Given the description of an element on the screen output the (x, y) to click on. 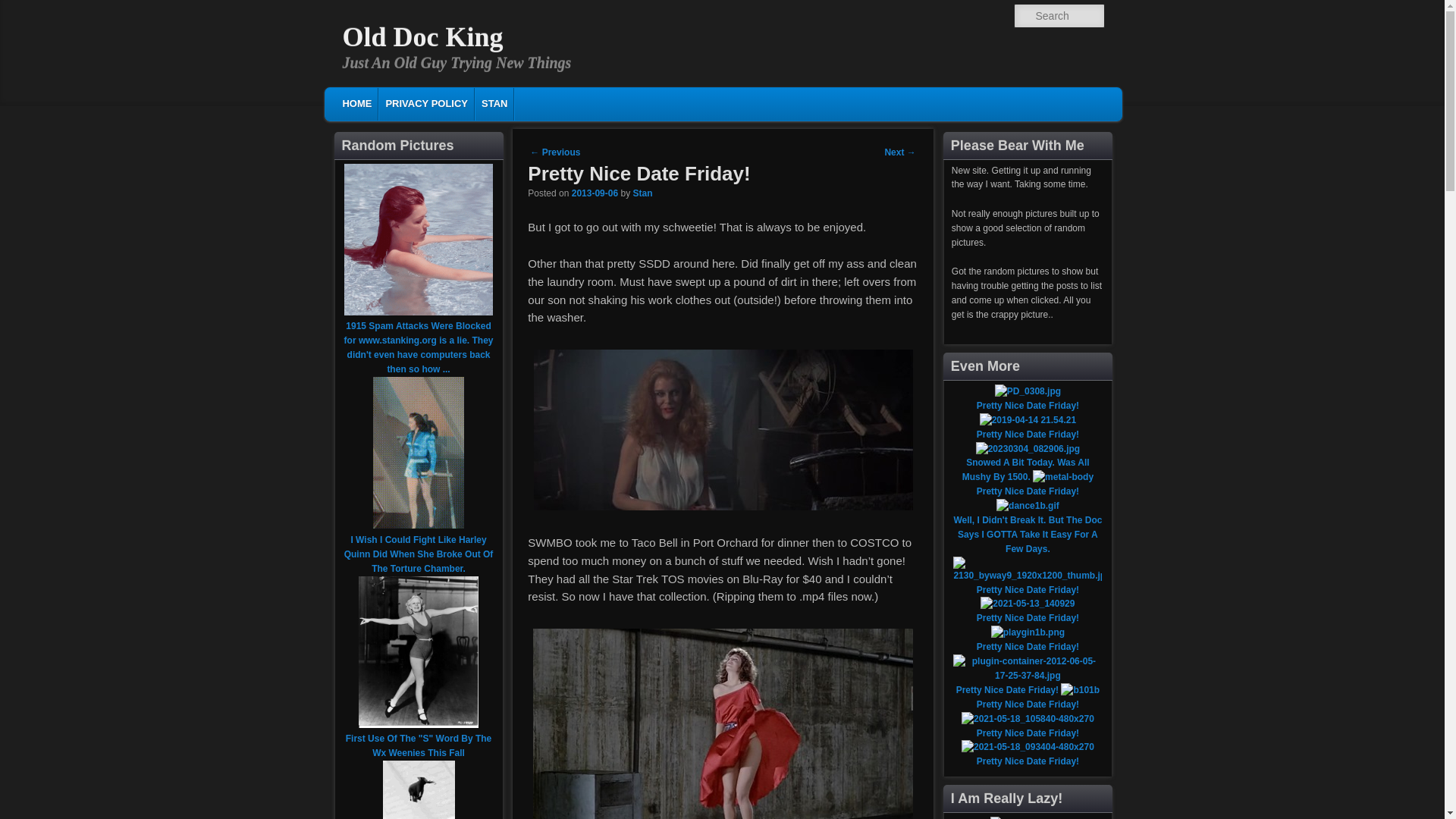
jean.jpg (418, 724)
Old Doc King (422, 37)
2013-09-06 (594, 193)
Skip to primary content (421, 102)
Stan (641, 193)
PRIVACY POLICY (426, 103)
vlcsnap-00303 (723, 429)
Skip to secondary content (432, 102)
2028 (594, 193)
